Given the description of an element on the screen output the (x, y) to click on. 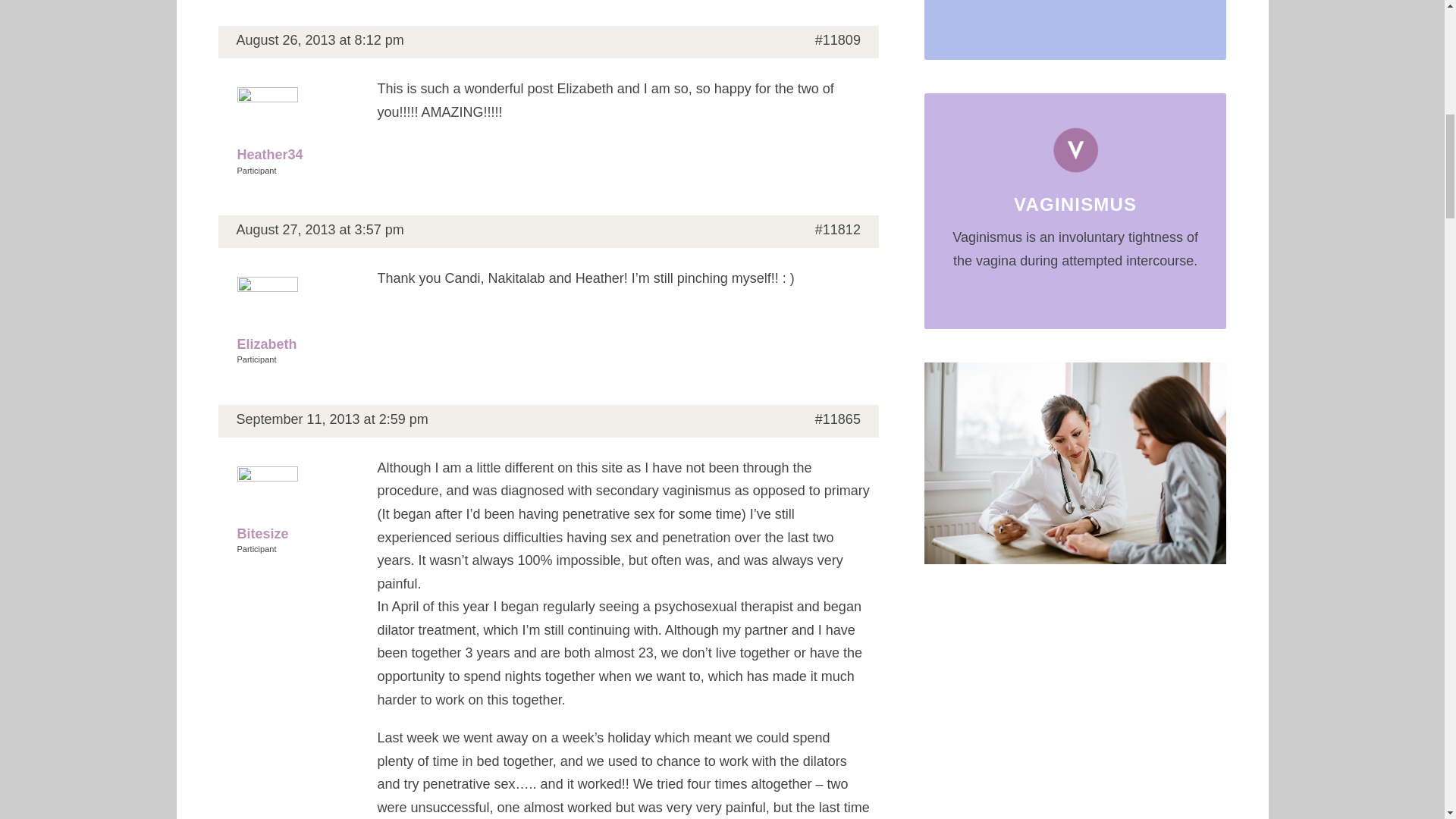
View Bitesize's profile (296, 505)
View Heather34's profile (296, 126)
View Elizabeth's profile (296, 316)
